Given the description of an element on the screen output the (x, y) to click on. 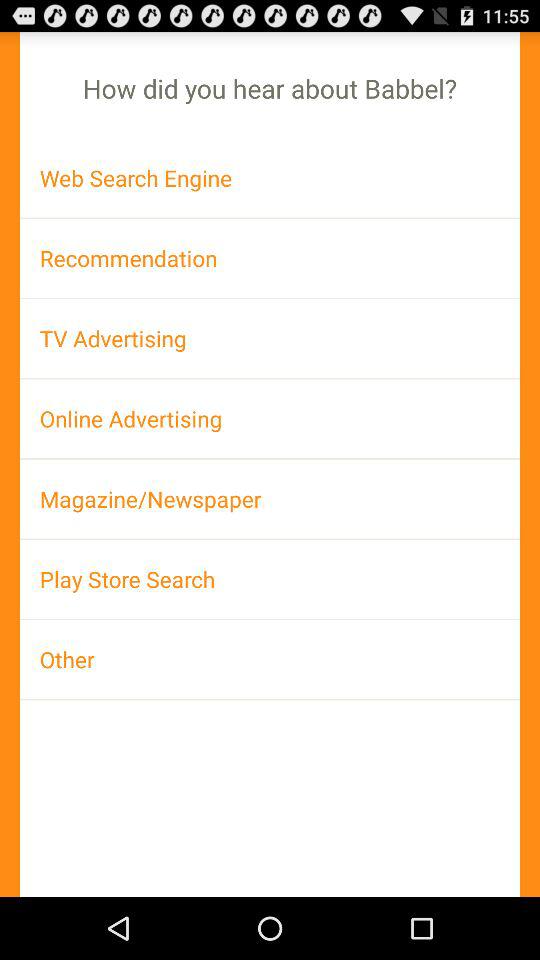
turn off icon below the how did you (269, 177)
